Given the description of an element on the screen output the (x, y) to click on. 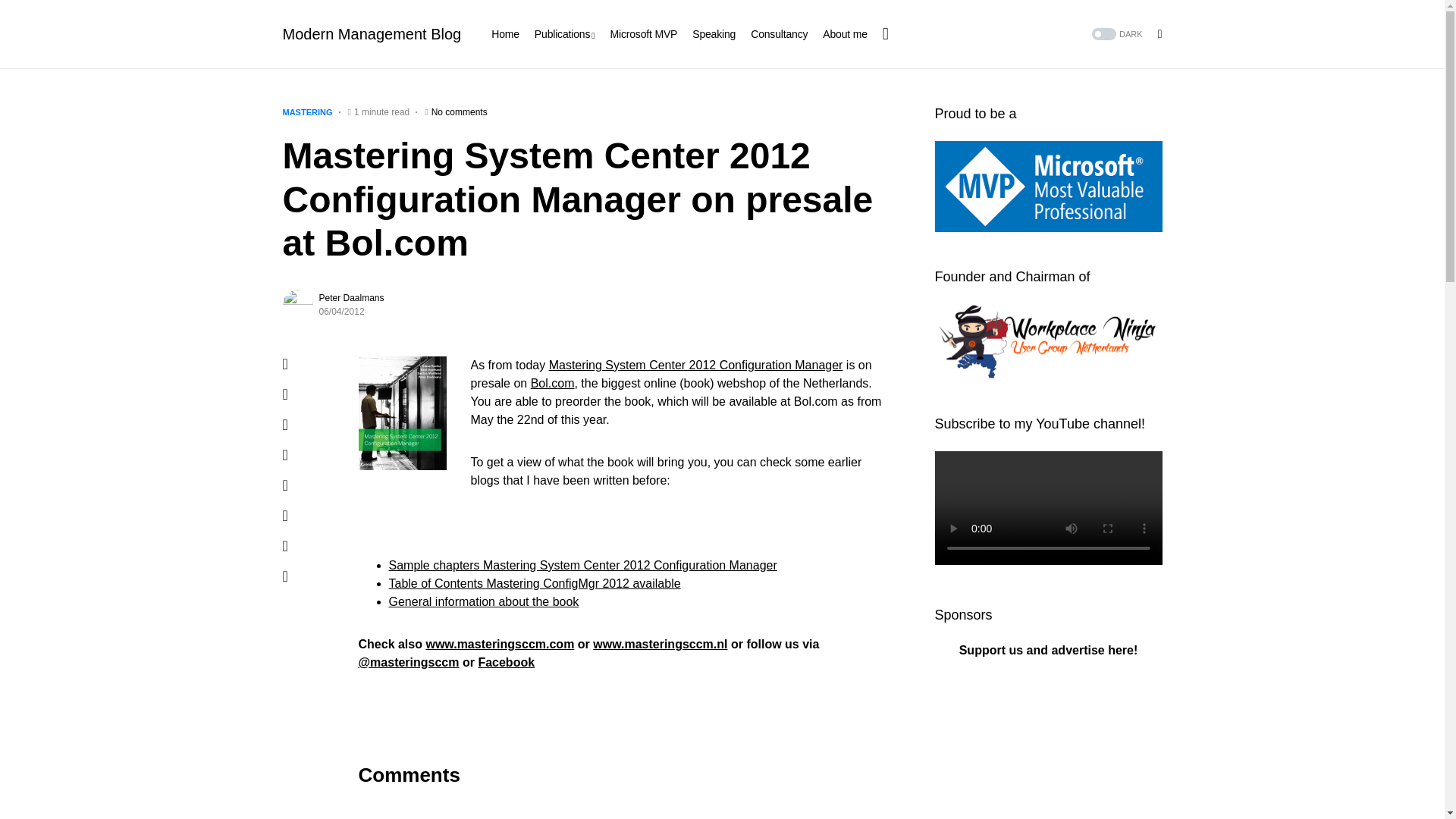
Mastering SCCM 2012 book (483, 601)
Modern Management Blog (371, 33)
Table of Contents Mastering ConfigMgr 2012 available (533, 583)
Microsoft MVP (643, 33)
